Given the description of an element on the screen output the (x, y) to click on. 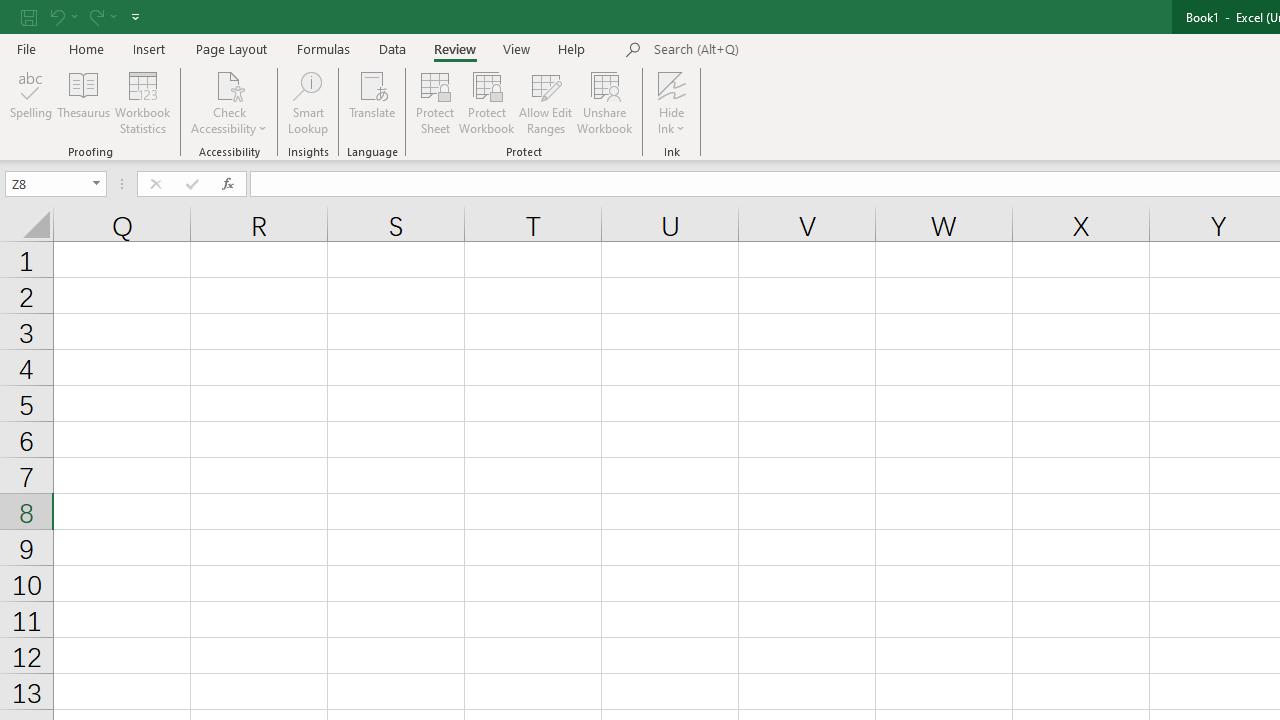
Workbook Statistics (142, 102)
Unshare Workbook (604, 102)
Smart Lookup (308, 102)
Hide Ink (671, 102)
